Given the description of an element on the screen output the (x, y) to click on. 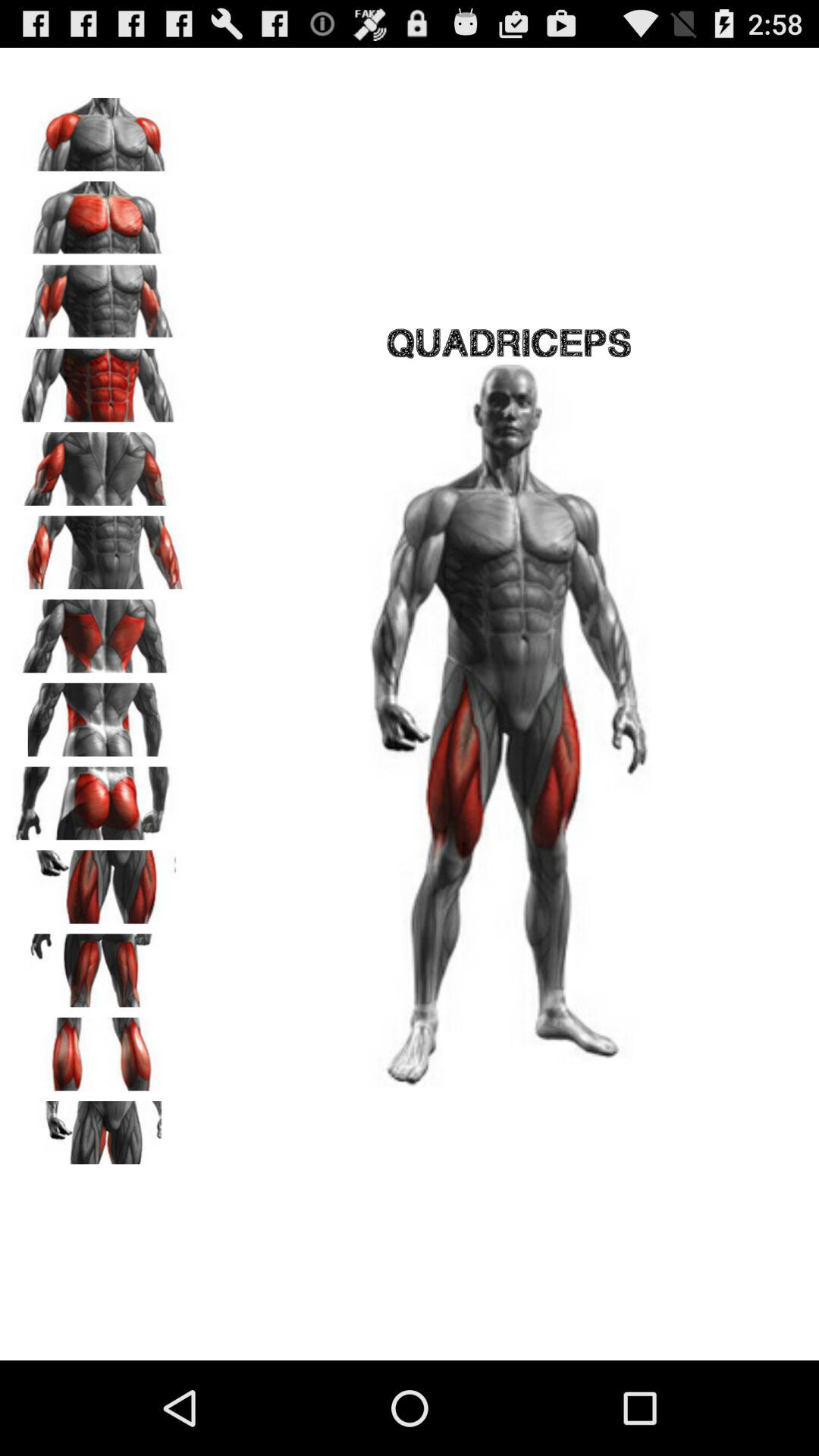
bring larger picture up (99, 881)
